Given the description of an element on the screen output the (x, y) to click on. 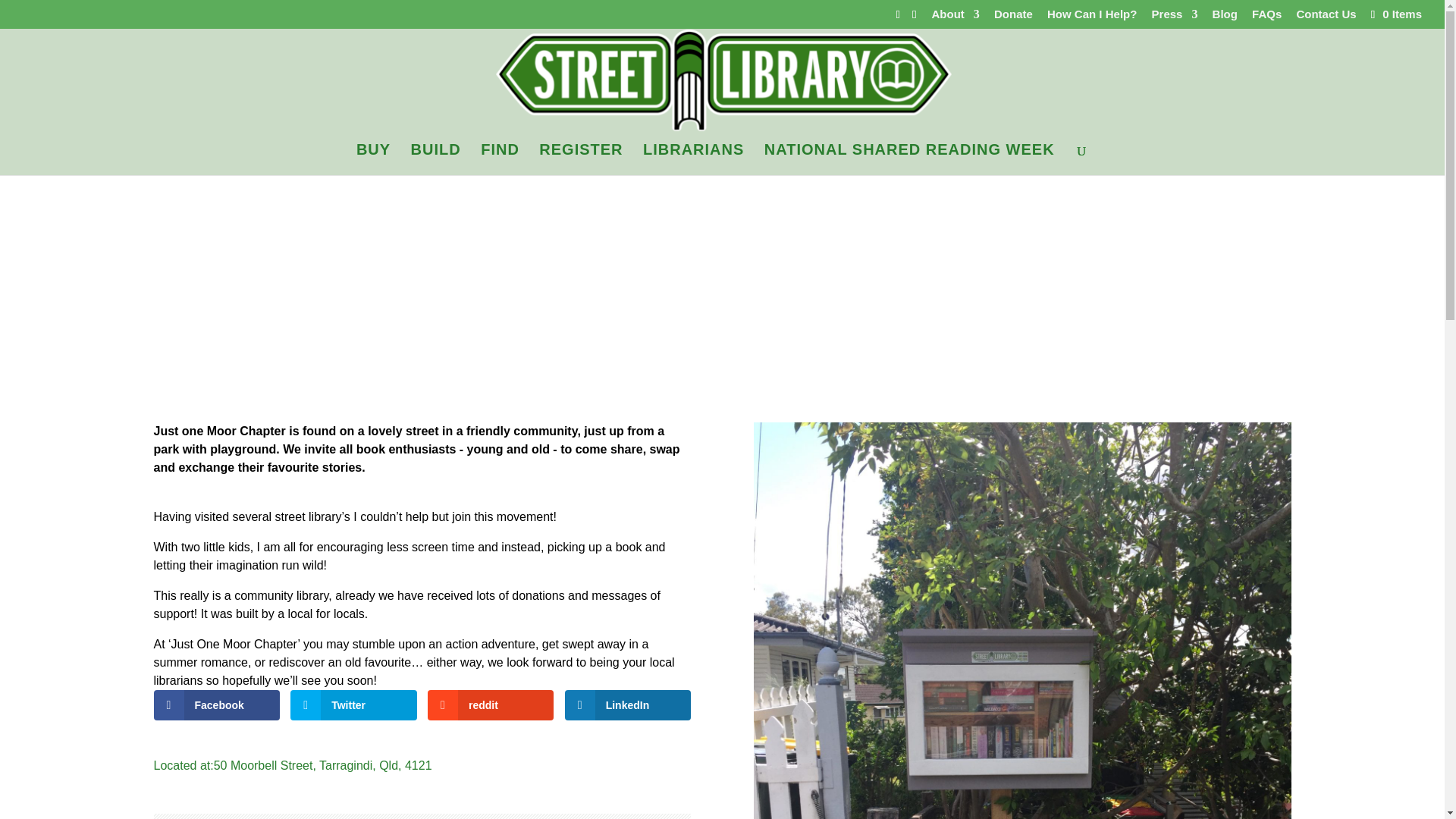
Facebook (215, 705)
NATIONAL SHARED READING WEEK (909, 159)
0 Items (1395, 13)
FIND (499, 159)
REGISTER (580, 159)
Twitter (352, 705)
BUILD (435, 159)
About (955, 17)
Press (1174, 17)
Blog (1224, 17)
